Given the description of an element on the screen output the (x, y) to click on. 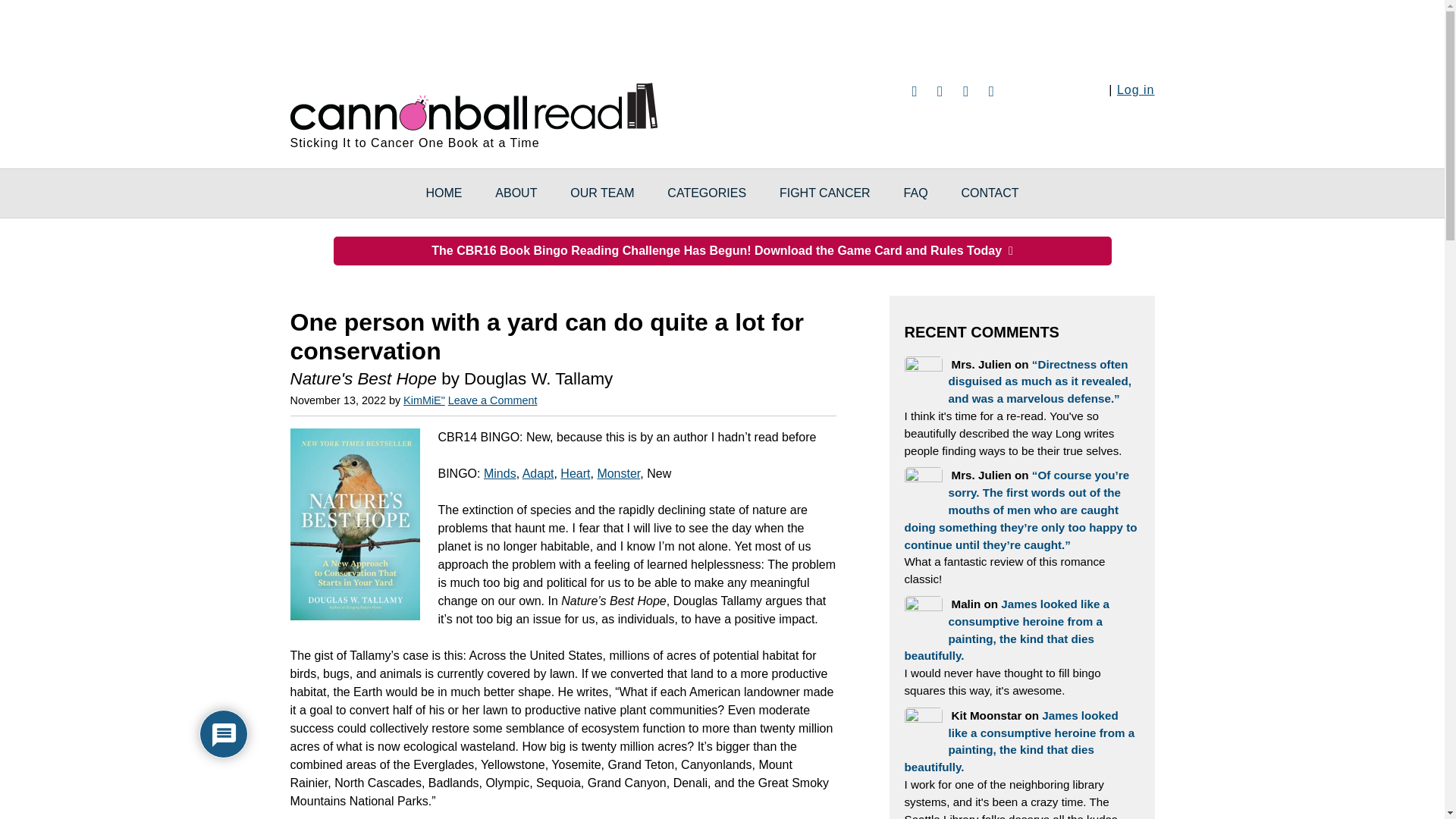
HOME (443, 192)
CATEGORIES (706, 192)
CONTACT (988, 192)
OUR TEAM (601, 192)
FIGHT CANCER (824, 192)
CANNONBALL READ 16 (473, 103)
FAQ (915, 192)
Log in (1135, 89)
ABOUT (515, 192)
